Given the description of an element on the screen output the (x, y) to click on. 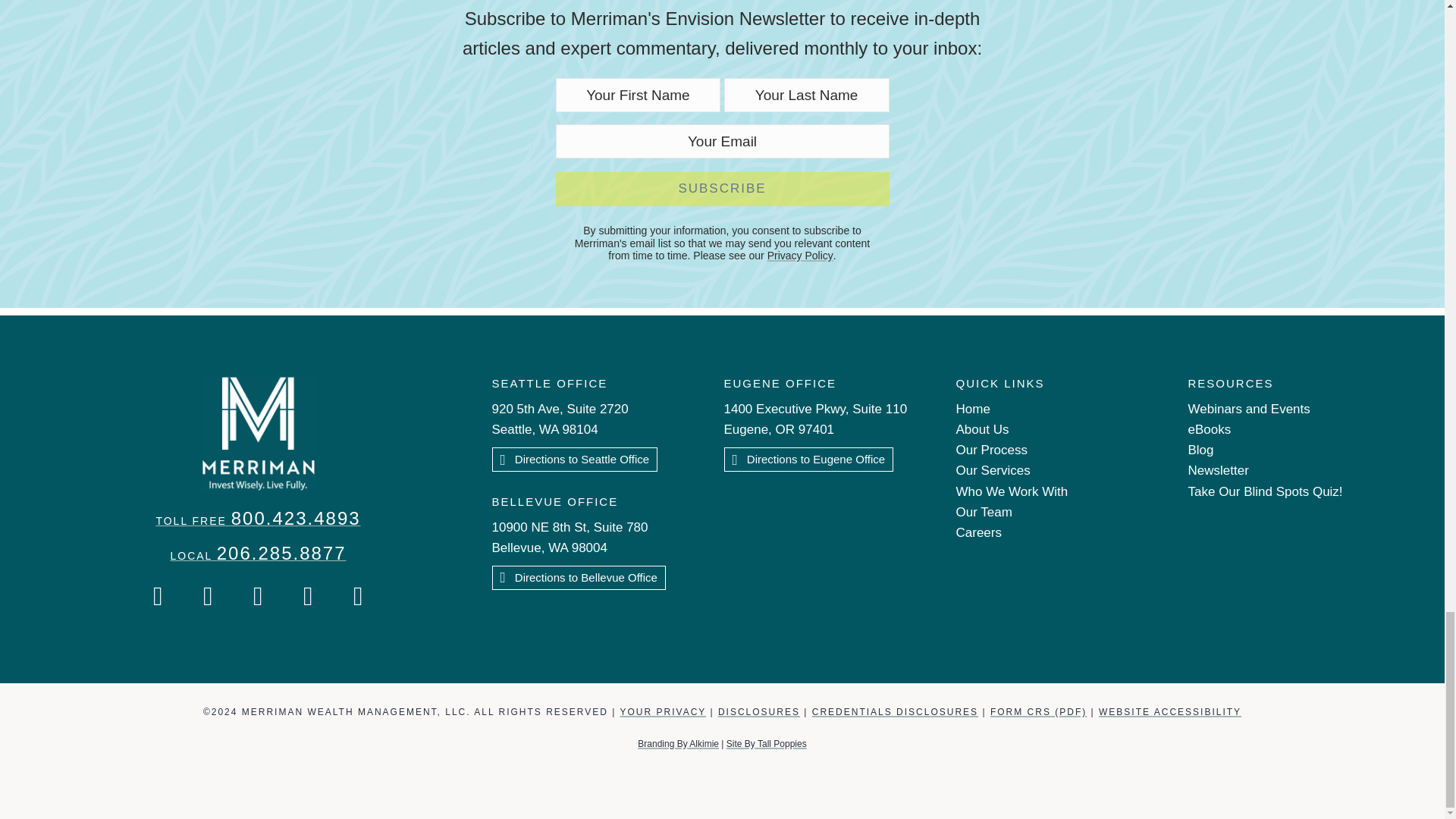
Click Here (575, 459)
Merriman's LinkedIn (358, 596)
Subscribe (721, 188)
Merriman's Instagram Account (208, 596)
Merriman's Twitter Account (259, 596)
Click Here (578, 577)
Merriman's YouTube Channel (308, 596)
Click Here (808, 459)
Merriman's Facebook Page (158, 596)
